Given the description of an element on the screen output the (x, y) to click on. 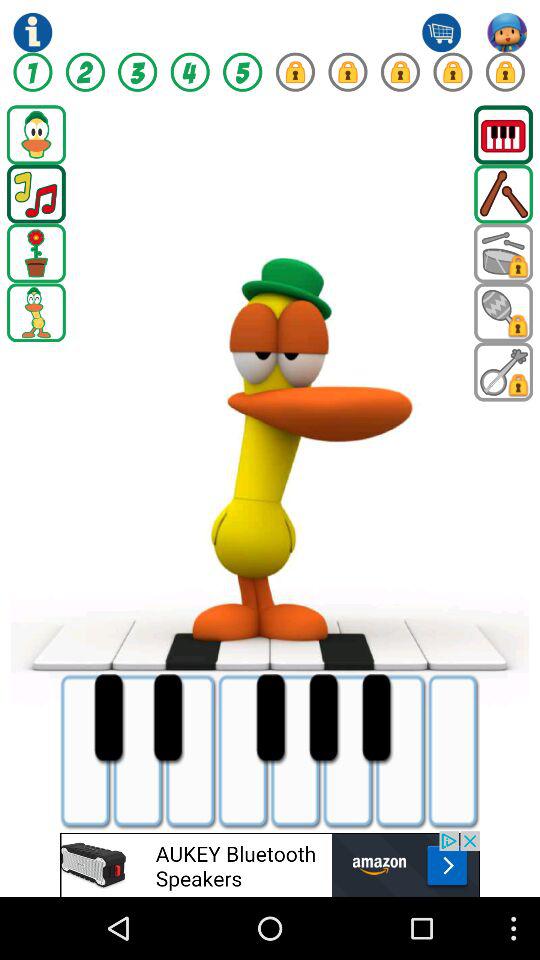
select drum sticks (503, 193)
